Given the description of an element on the screen output the (x, y) to click on. 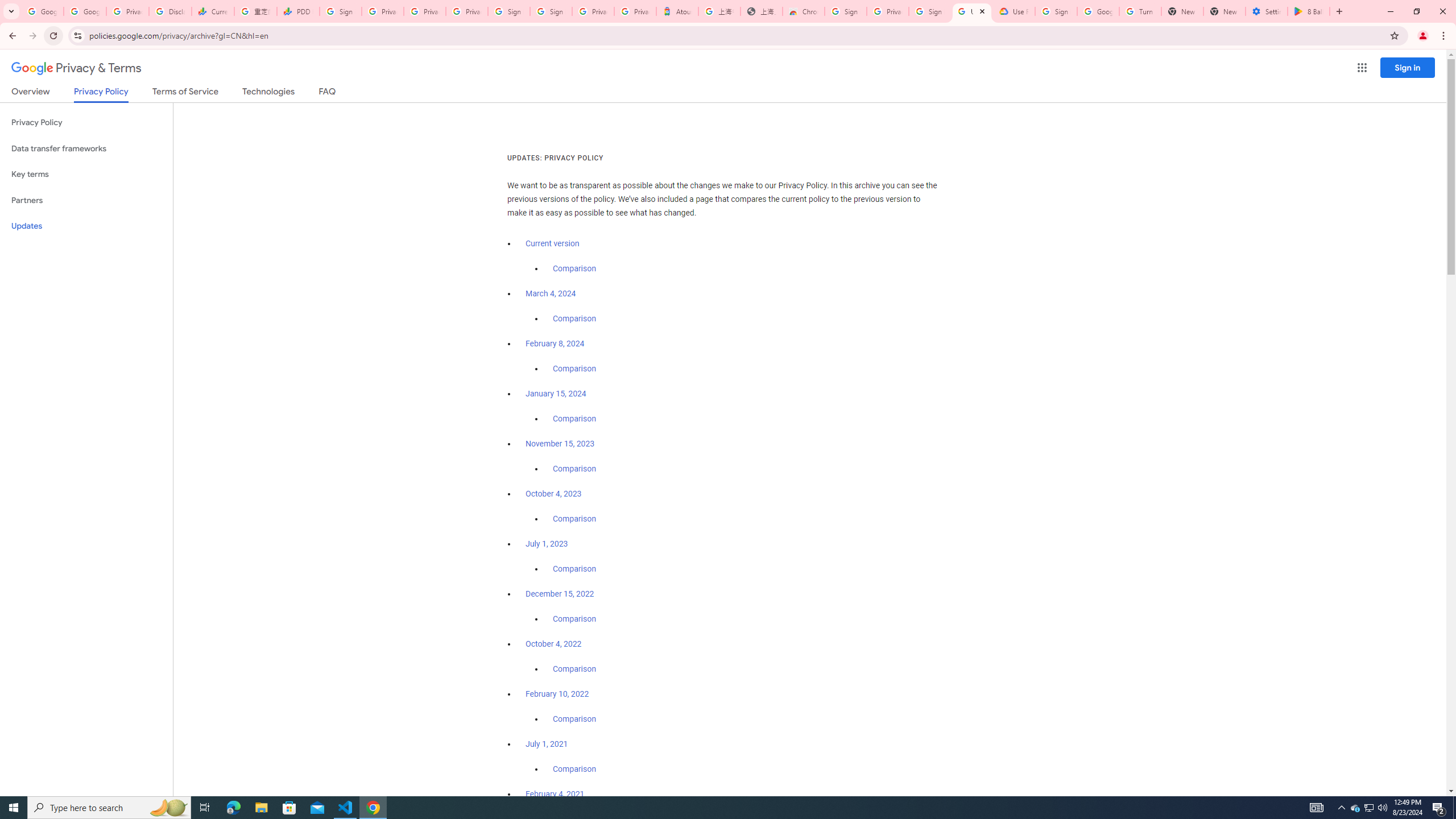
February 4, 2021 (555, 793)
8 Ball Pool - Apps on Google Play (1308, 11)
Currencies - Google Finance (212, 11)
March 4, 2024 (550, 293)
